Given the description of an element on the screen output the (x, y) to click on. 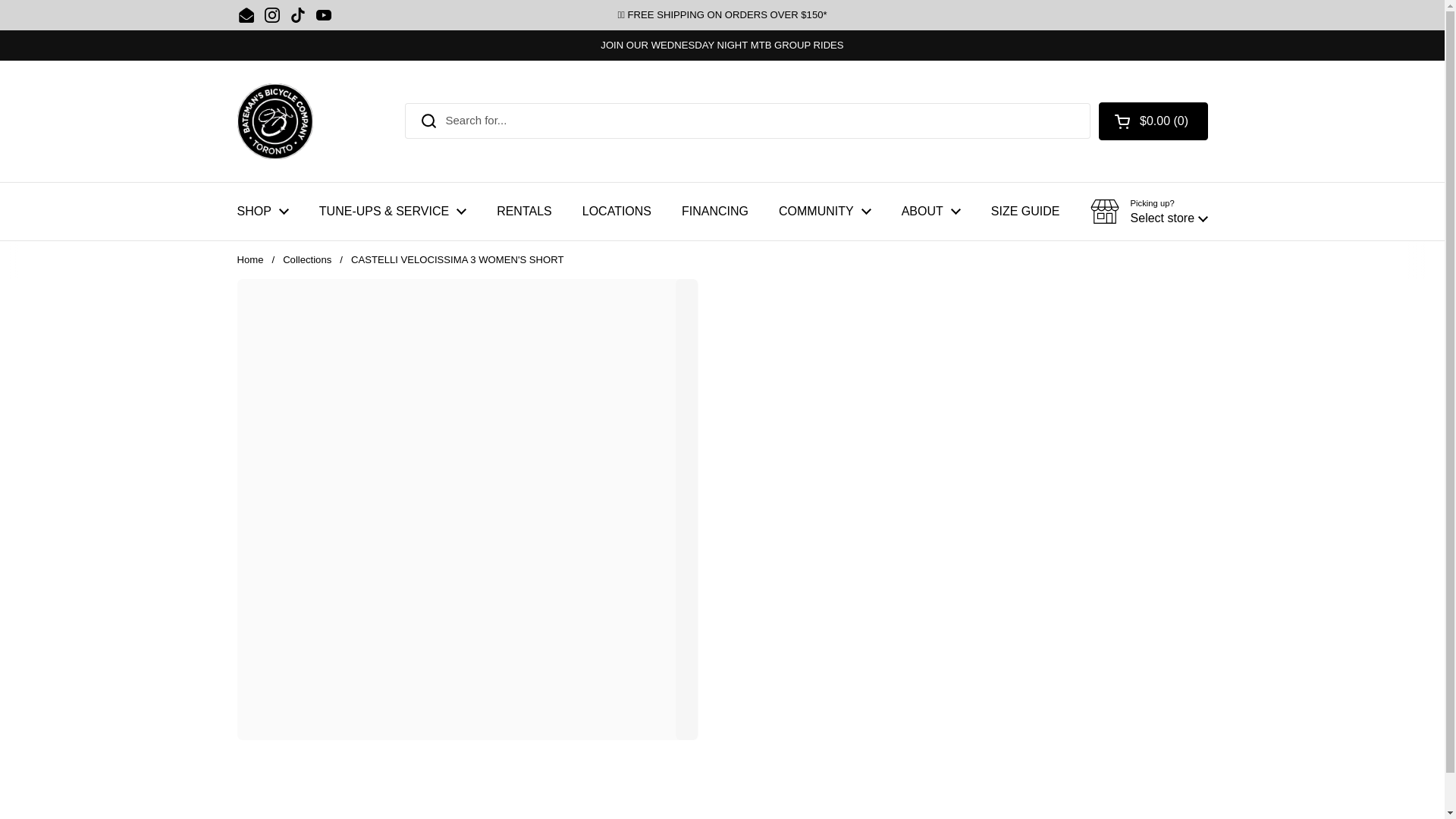
Email (244, 14)
Instagram (271, 14)
SHOP (261, 211)
Bateman's Bicycle Company (274, 120)
YouTube (322, 14)
SHOP (261, 211)
Open cart (1153, 121)
TikTok (296, 14)
JOIN OUR WEDNESDAY NIGHT MTB GROUP RIDES (721, 45)
